Given the description of an element on the screen output the (x, y) to click on. 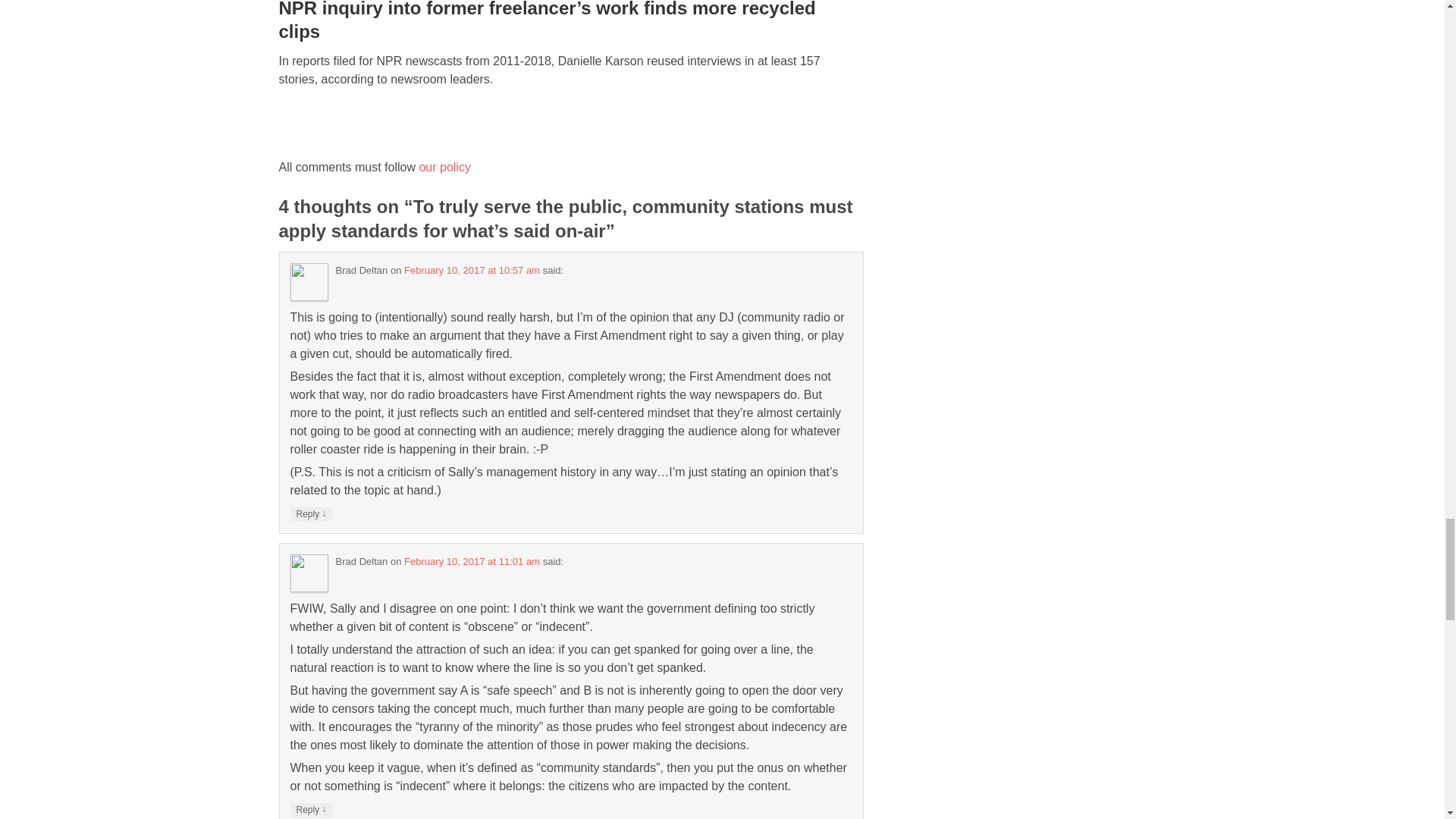
Read:  (547, 20)
